Given the description of an element on the screen output the (x, y) to click on. 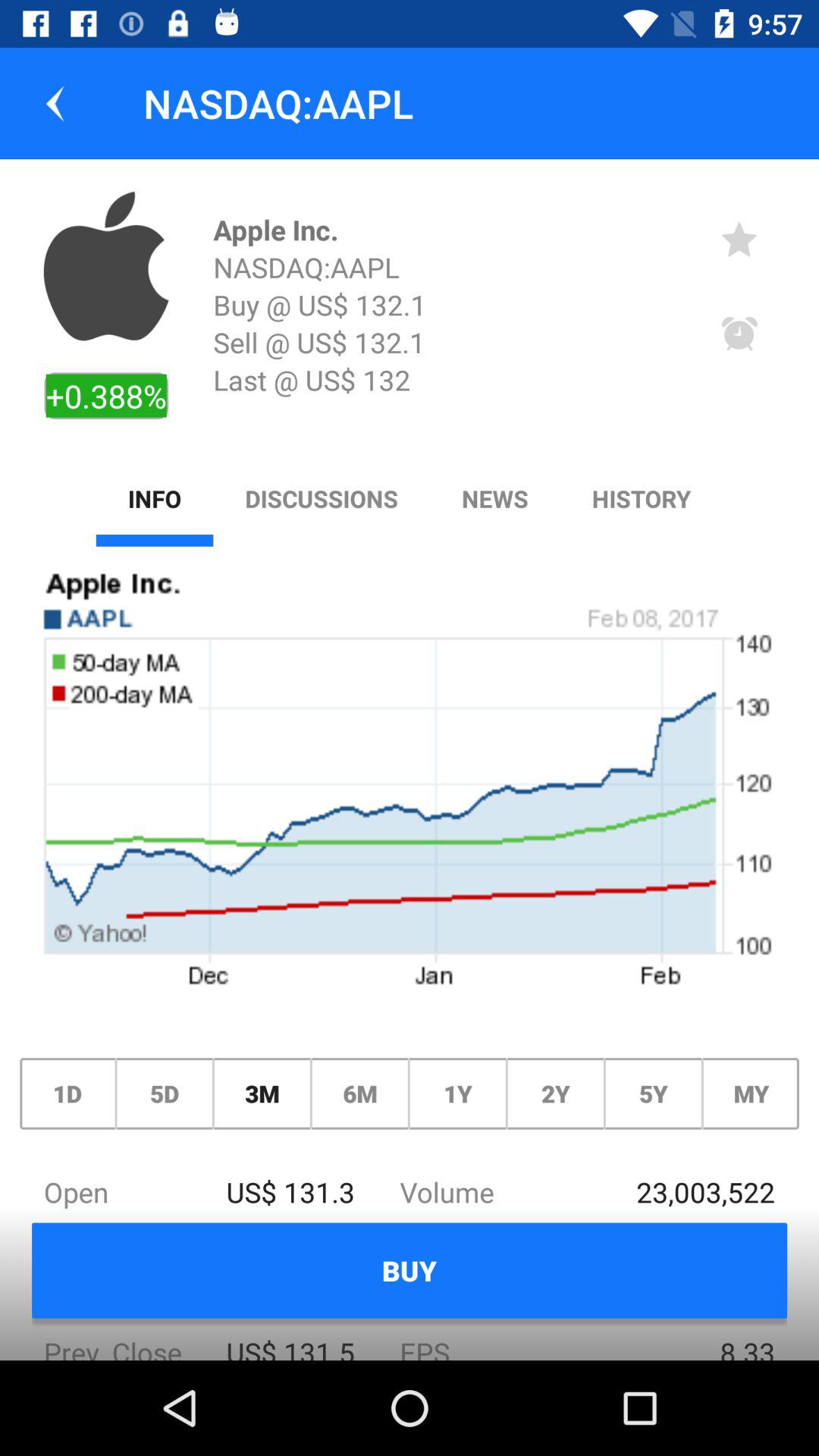
scroll until 3m icon (261, 1093)
